Given the description of an element on the screen output the (x, y) to click on. 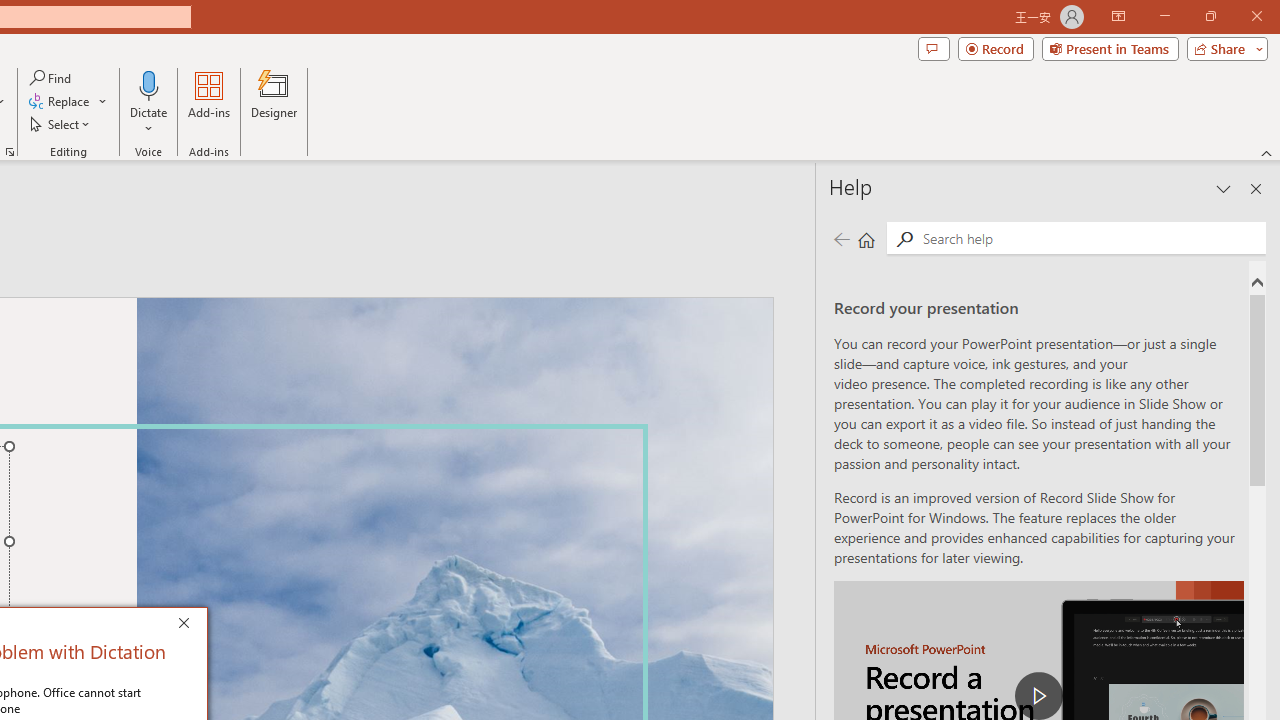
Dictate (149, 84)
Search (1089, 237)
More Options (149, 121)
Collapse the Ribbon (1267, 152)
Comments (933, 48)
Replace... (68, 101)
Present in Teams (1109, 48)
Dictate (149, 102)
Previous page (841, 238)
Close (188, 625)
Task Pane Options (1224, 188)
